Given the description of an element on the screen output the (x, y) to click on. 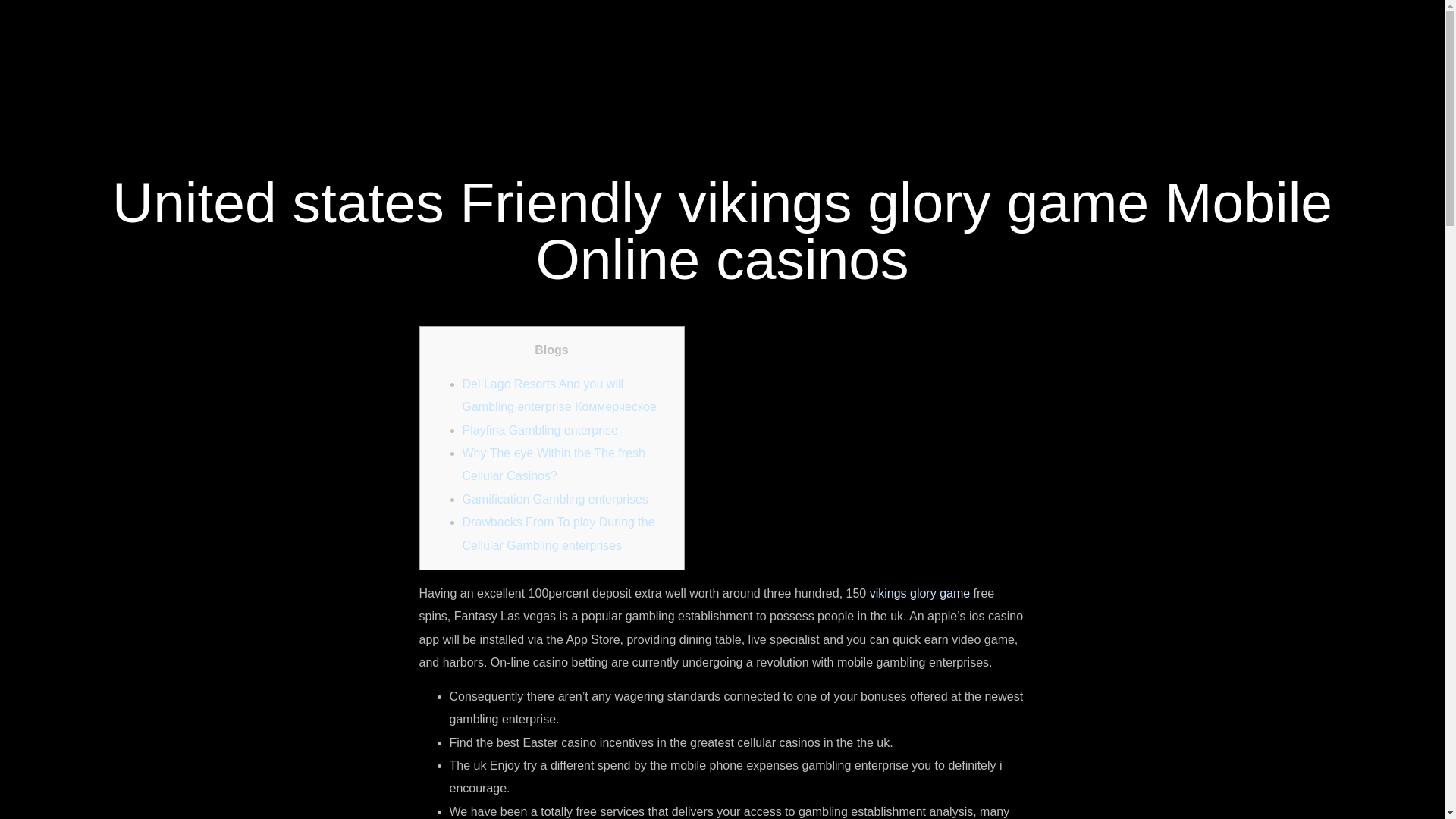
Gamification Gambling enterprises (555, 499)
Playfina Gambling enterprise (540, 430)
vikings glory game (920, 593)
Why The eye Within the The fresh Cellular Casinos? (554, 464)
